Given the description of an element on the screen output the (x, y) to click on. 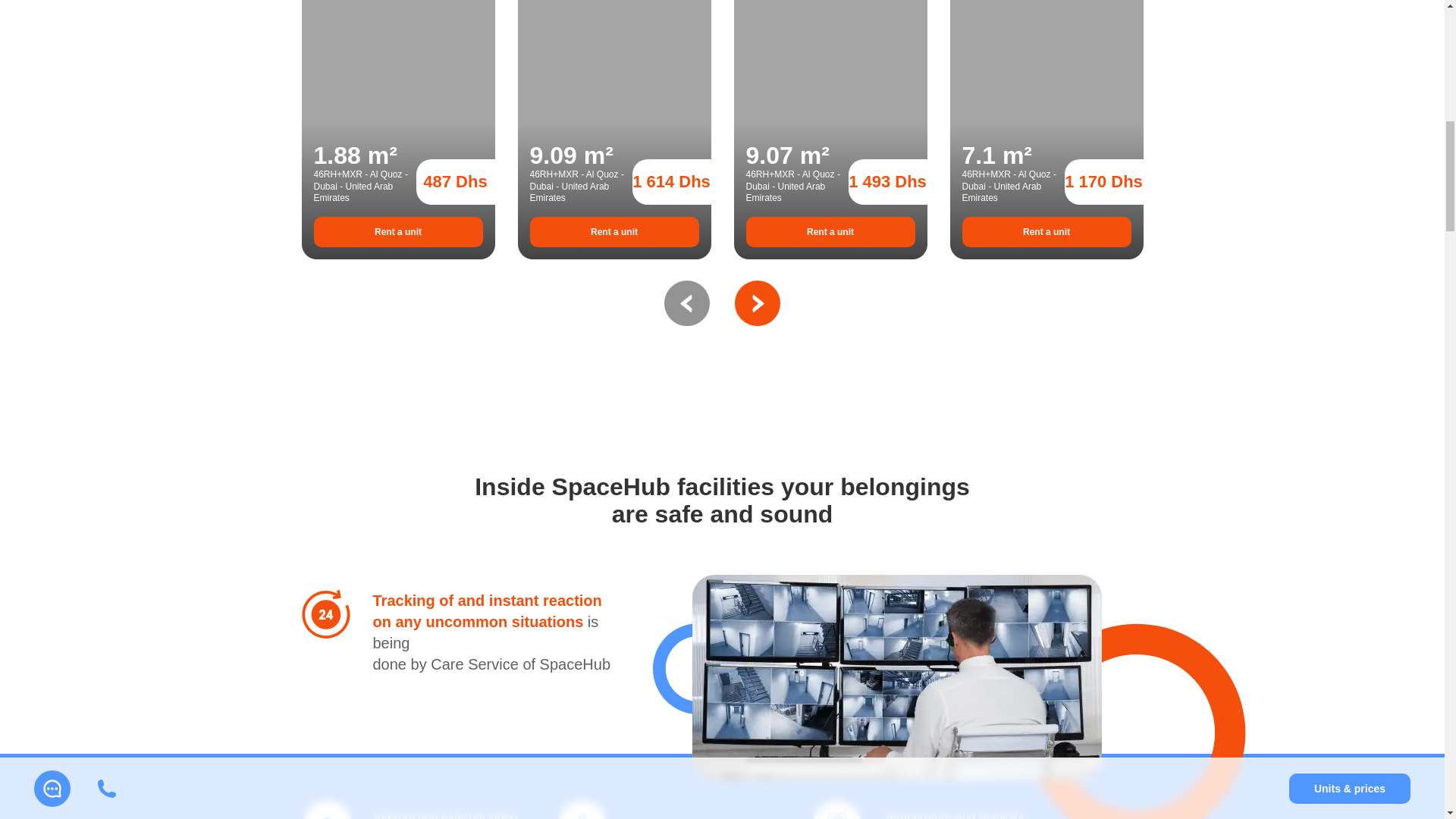
Rent a unit (830, 232)
Rent a unit (613, 232)
Rent a unit (398, 232)
Rent a unit (1045, 232)
